Given the description of an element on the screen output the (x, y) to click on. 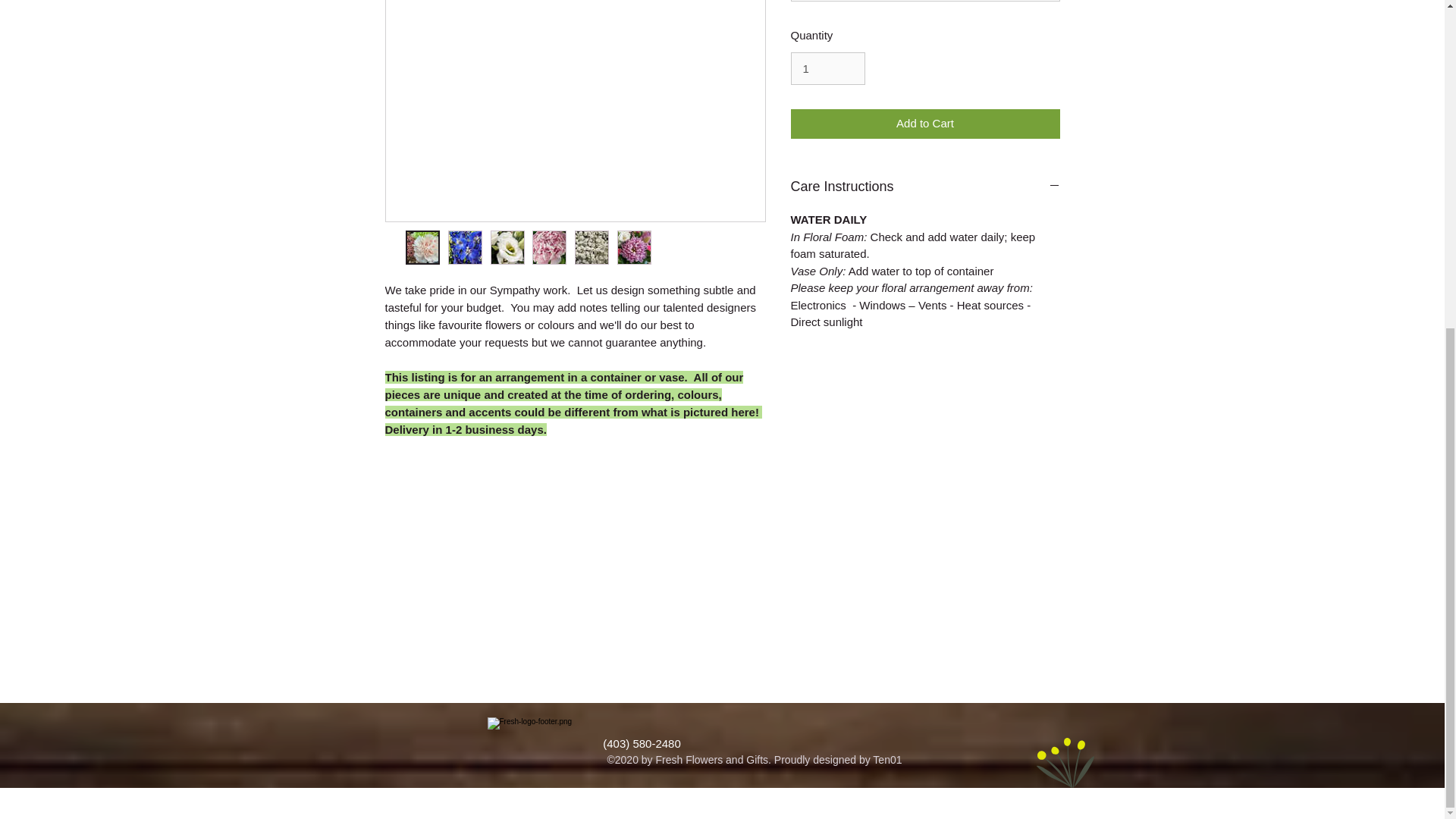
1 (827, 68)
Add to Cart (924, 123)
Care Instructions (924, 187)
